Given the description of an element on the screen output the (x, y) to click on. 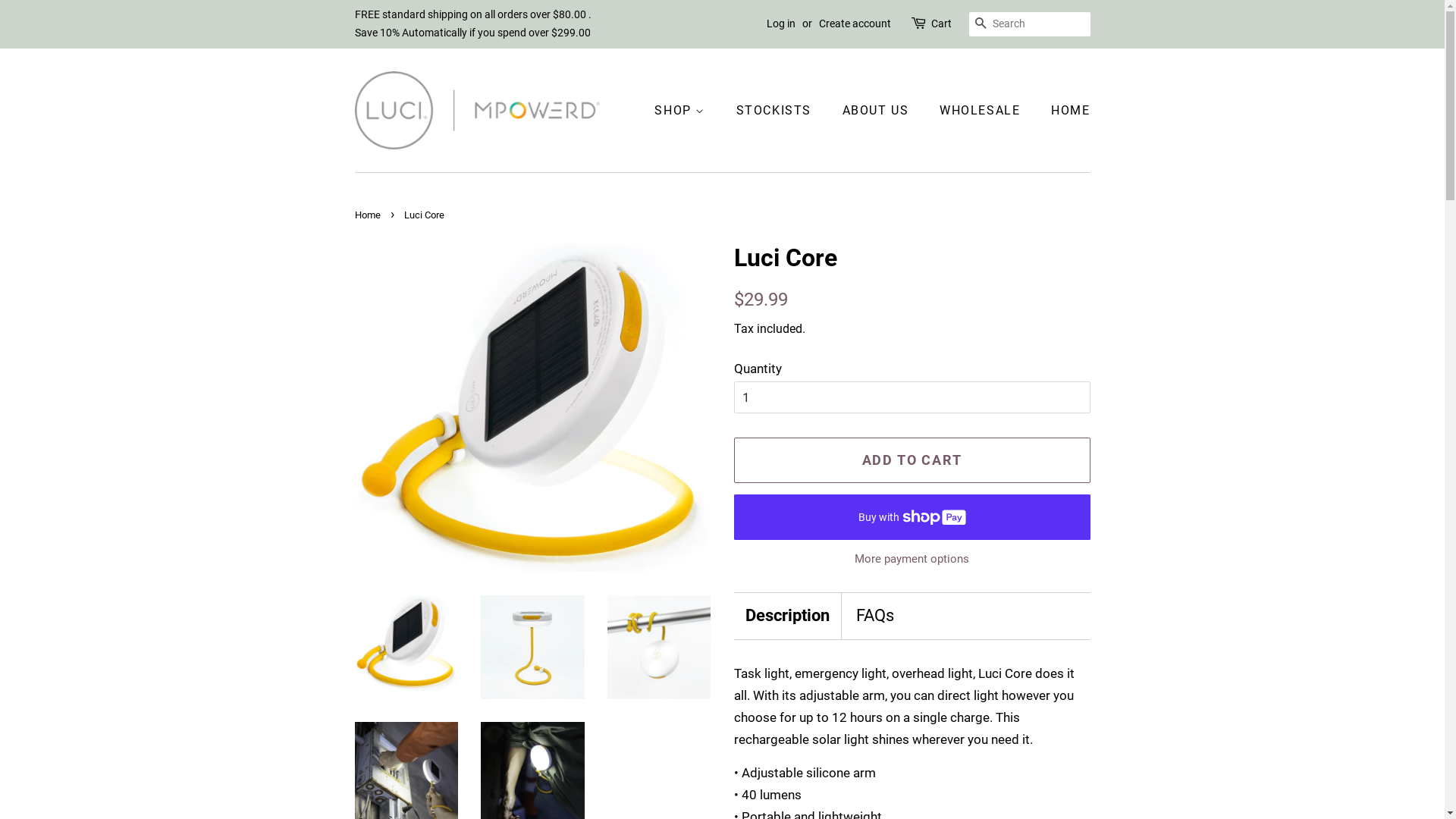
SHOP Element type: text (687, 109)
SEARCH Element type: text (981, 24)
Home Element type: text (369, 214)
ABOUT US Element type: text (877, 109)
WHOLESALE Element type: text (981, 109)
Log in Element type: text (779, 23)
More payment options Element type: text (912, 558)
Description Element type: text (786, 615)
HOME Element type: text (1064, 109)
ADD TO CART Element type: text (912, 460)
FAQs Element type: text (874, 615)
Create account Element type: text (855, 23)
Cart Element type: text (941, 24)
STOCKISTS Element type: text (775, 109)
